Given the description of an element on the screen output the (x, y) to click on. 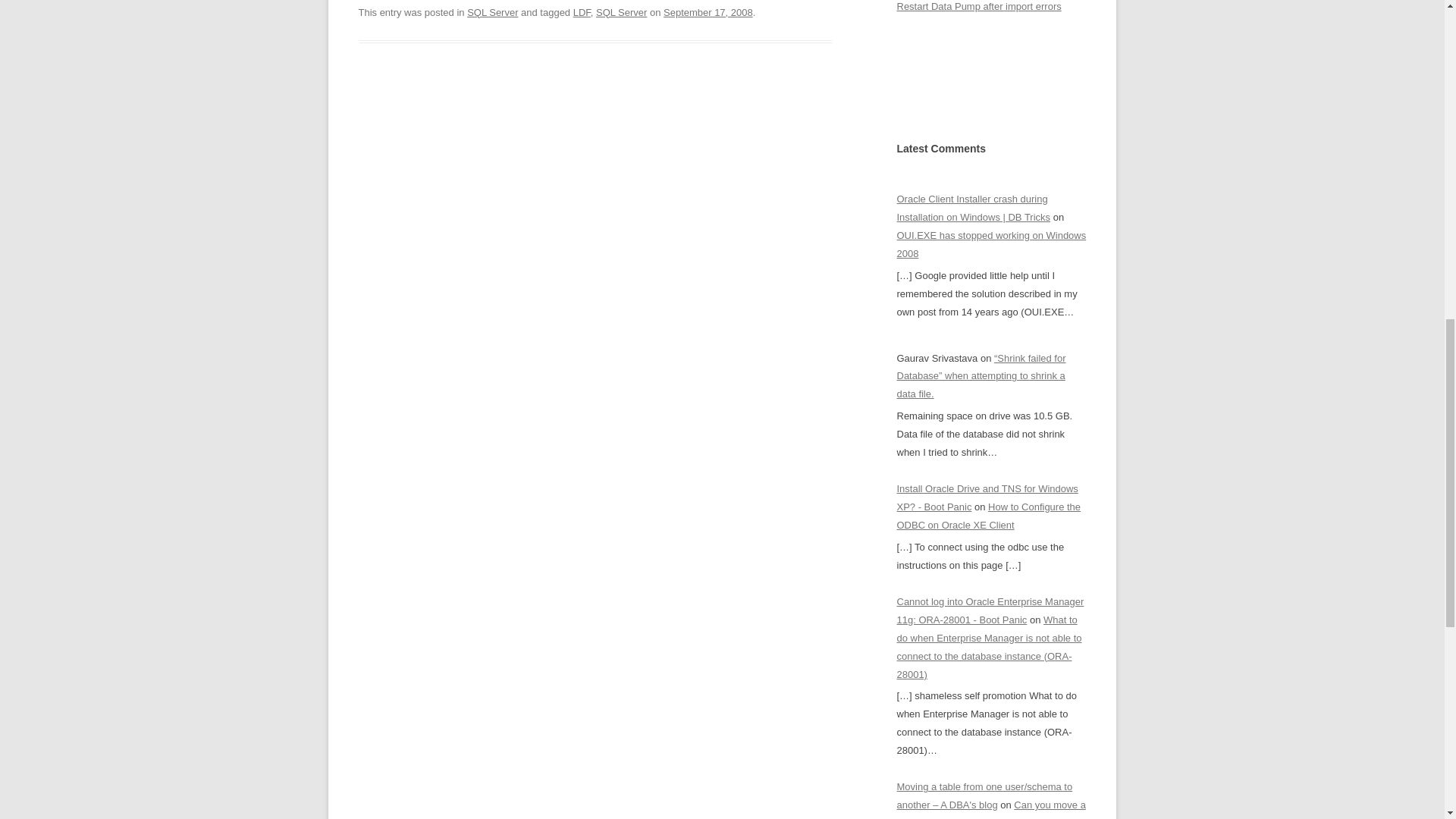
Can you move a table between schemas ? (990, 809)
SQL Server (620, 12)
September 17, 2008 (707, 12)
3:48 pm (707, 12)
Restart Data Pump after import errors (978, 6)
How to Configure the ODBC on Oracle XE Client (988, 515)
Restart Data Pump after import errors (978, 6)
OUI.EXE has stopped working on Windows 2008 (991, 244)
LDF (582, 12)
